Given the description of an element on the screen output the (x, y) to click on. 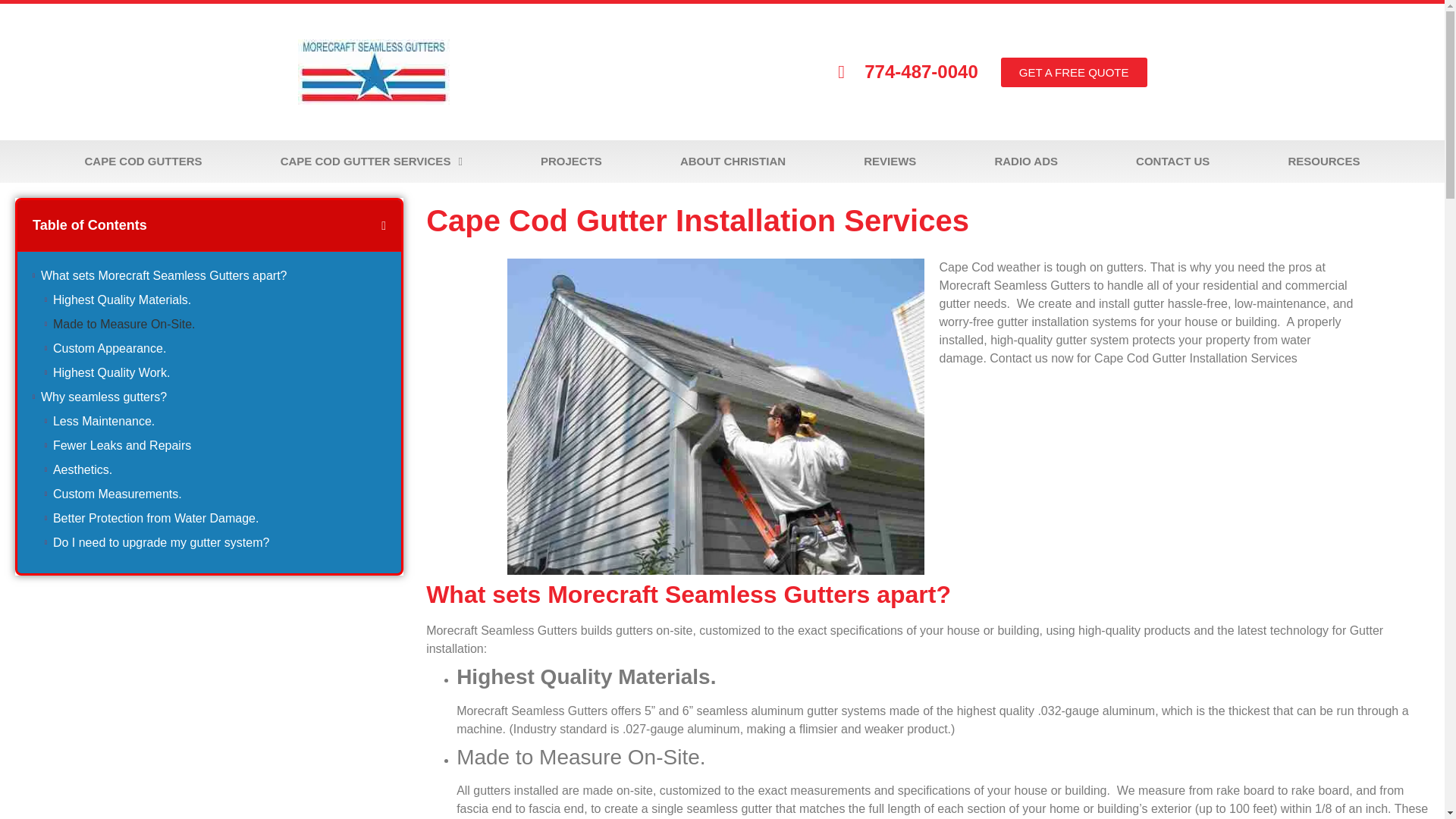
Why seamless gutters? (103, 397)
RESOURCES (1324, 161)
Custom Measurements. (117, 494)
REVIEWS (890, 161)
Do I need to upgrade my gutter system? (160, 542)
CAPE COD GUTTERS (143, 161)
Custom Appearance. (108, 348)
Highest Quality Work. (111, 372)
Fewer Leaks and Repairs (121, 445)
Less Maintenance. (103, 421)
Made to Measure On-Site. (123, 324)
CAPE COD GUTTER SERVICES (370, 161)
CONTACT US (1173, 161)
774-487-0040 (907, 71)
PROJECTS (570, 161)
